Given the description of an element on the screen output the (x, y) to click on. 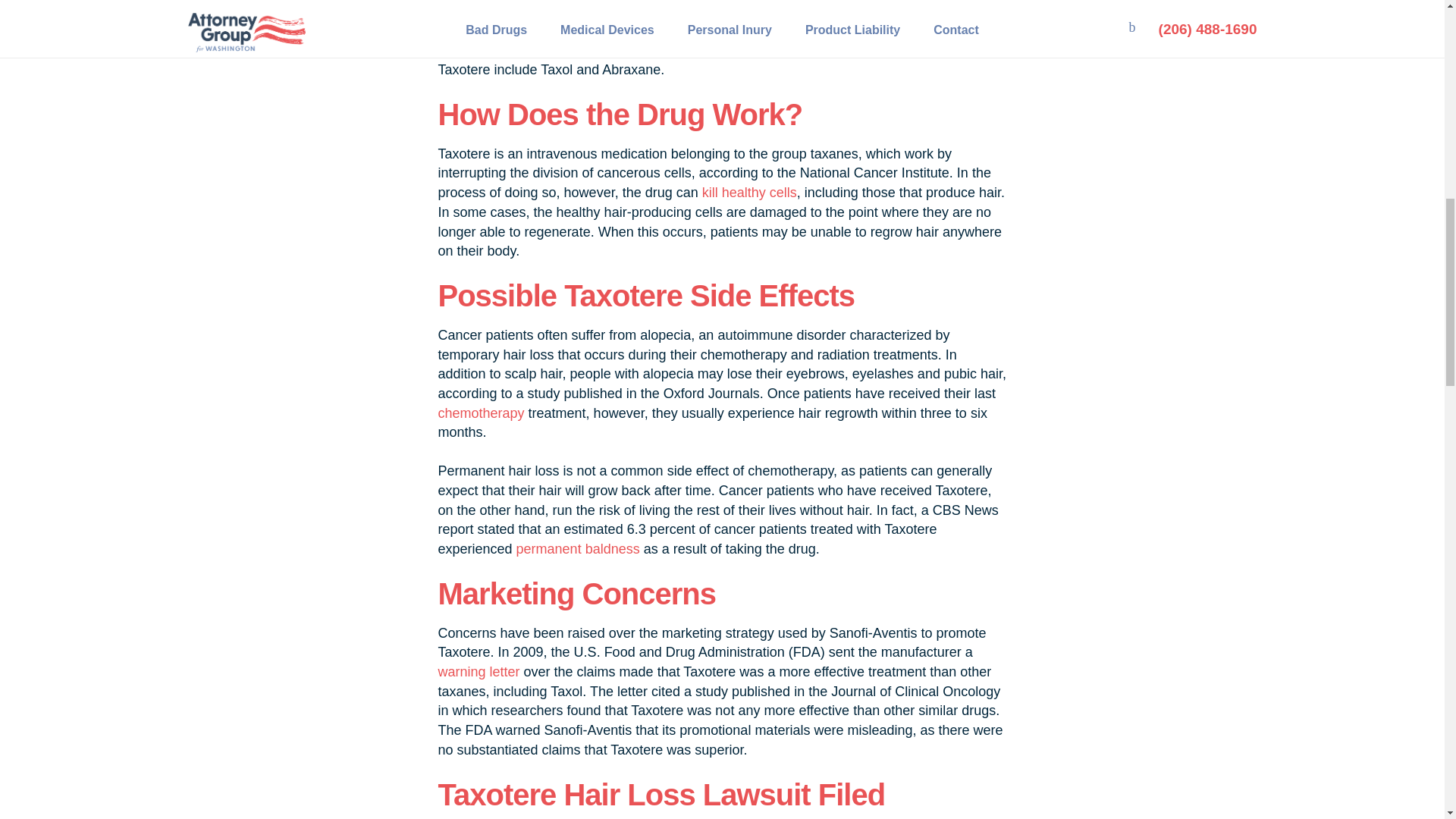
chemotherapy (481, 412)
warning letter (478, 671)
Chemocare (810, 30)
kill healthy cells (748, 192)
permanent baldness (578, 548)
